Given the description of an element on the screen output the (x, y) to click on. 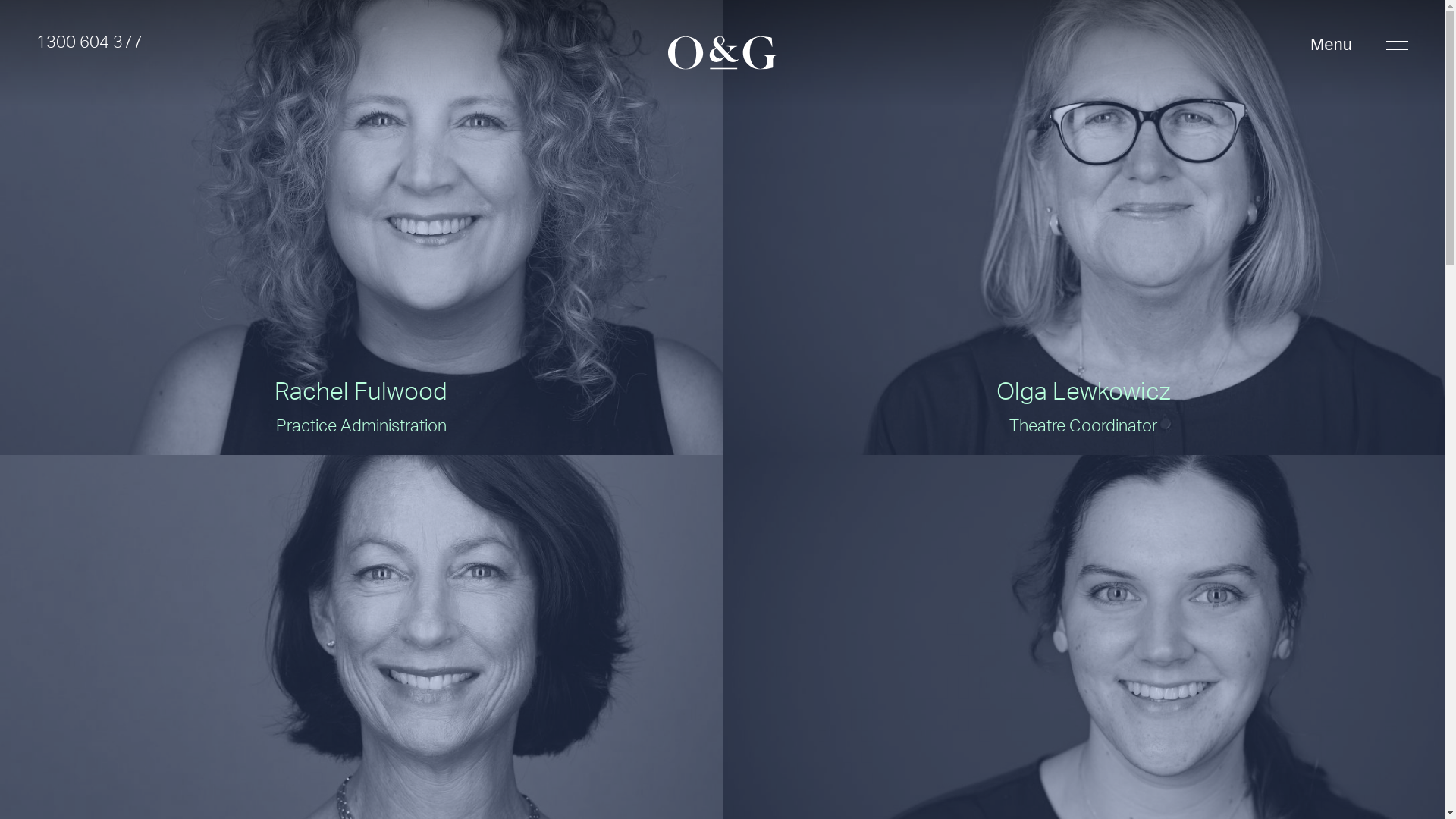
Menu Element type: text (1358, 44)
Rachel Fulwood
Practice Administration Element type: text (361, 227)
Olga Lewkowicz
Theatre Coordinator Element type: text (1082, 227)
1300 604 377 Element type: text (89, 44)
